Given the description of an element on the screen output the (x, y) to click on. 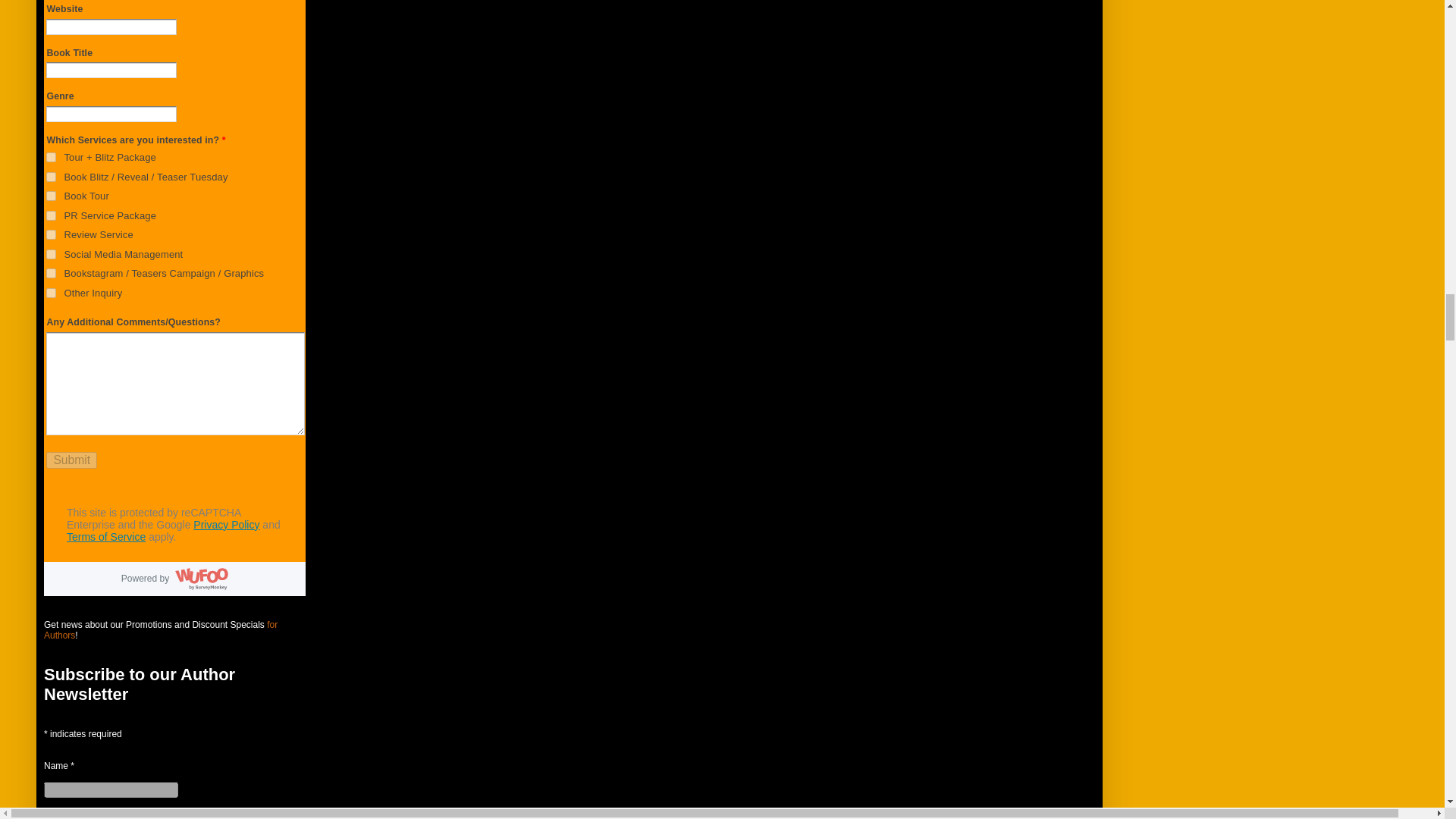
for Authors (160, 629)
